Given the description of an element on the screen output the (x, y) to click on. 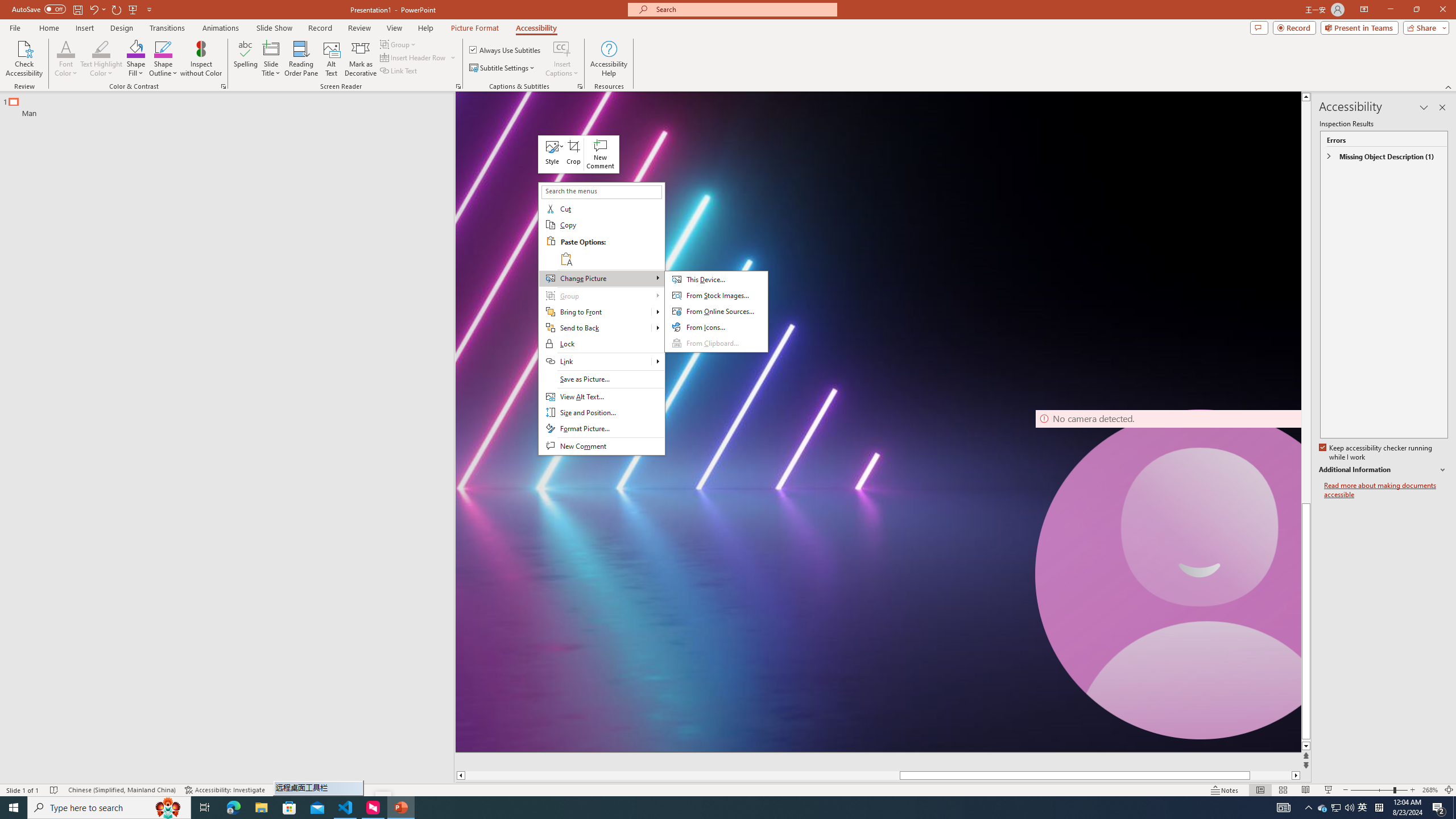
New Comment (600, 154)
Context Menu (601, 318)
This Device... (716, 279)
Group (600, 296)
